Given the description of an element on the screen output the (x, y) to click on. 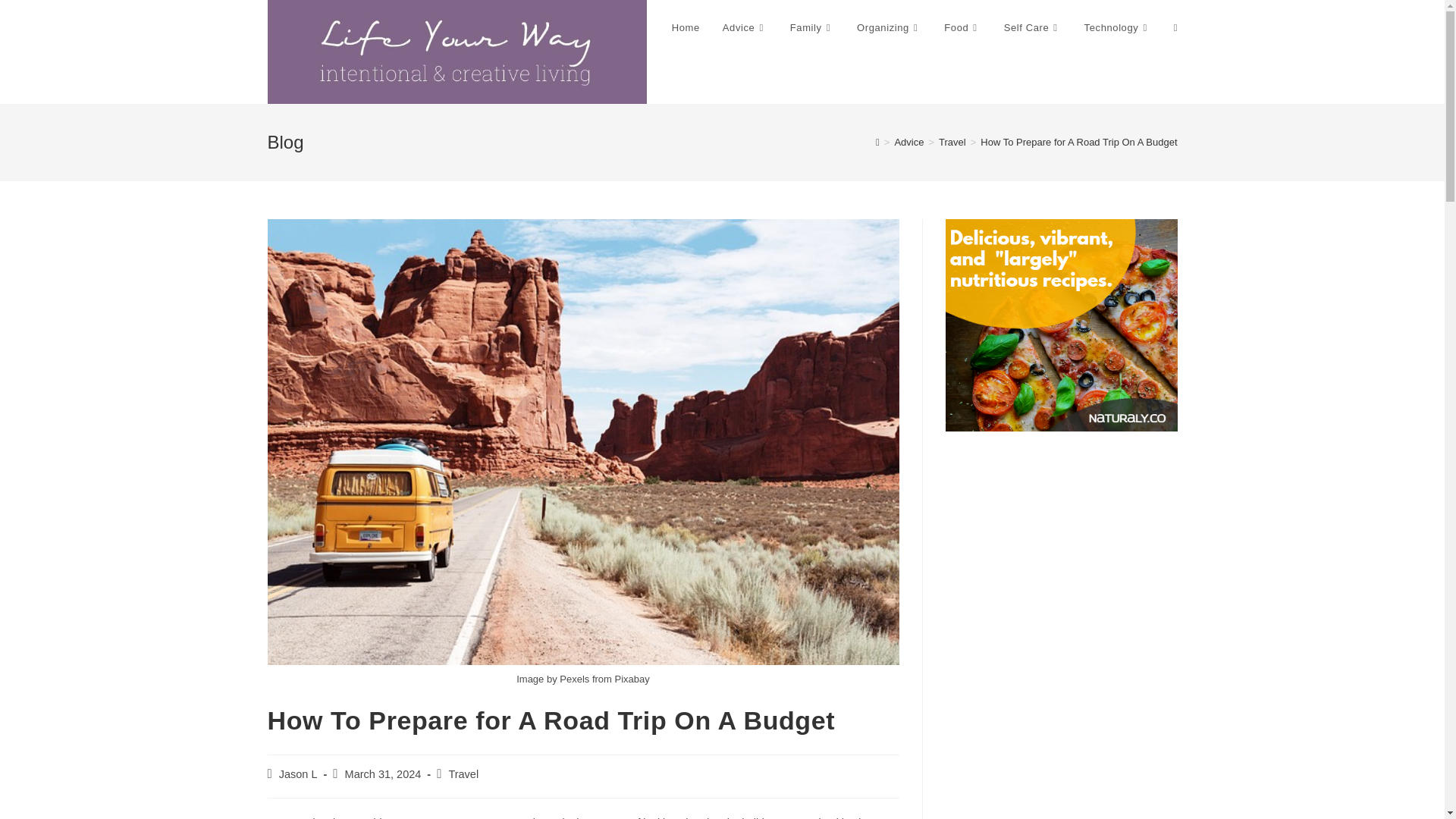
Organizing (889, 28)
Home (686, 28)
Family (811, 28)
Posts by Jason L (298, 774)
Advice (744, 28)
